Given the description of an element on the screen output the (x, y) to click on. 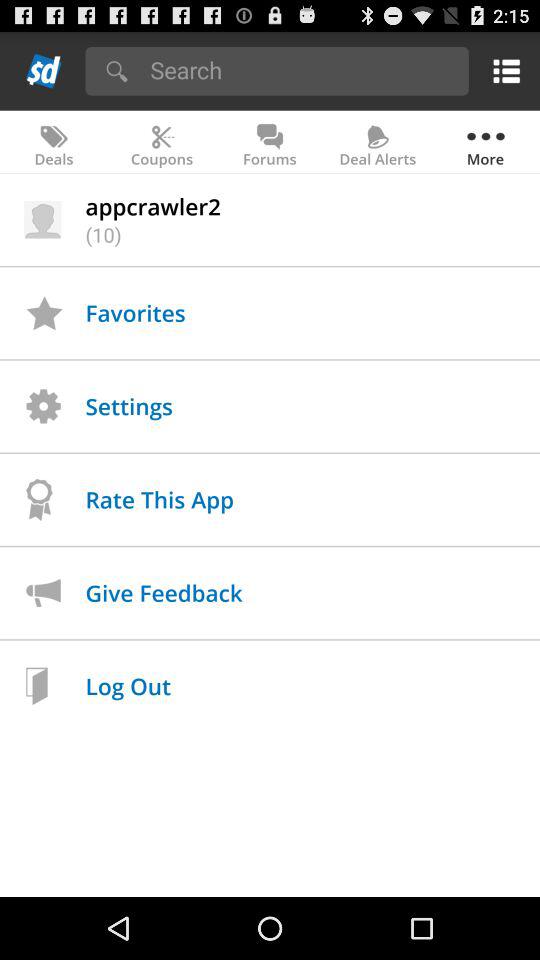
search button (302, 69)
